Given the description of an element on the screen output the (x, y) to click on. 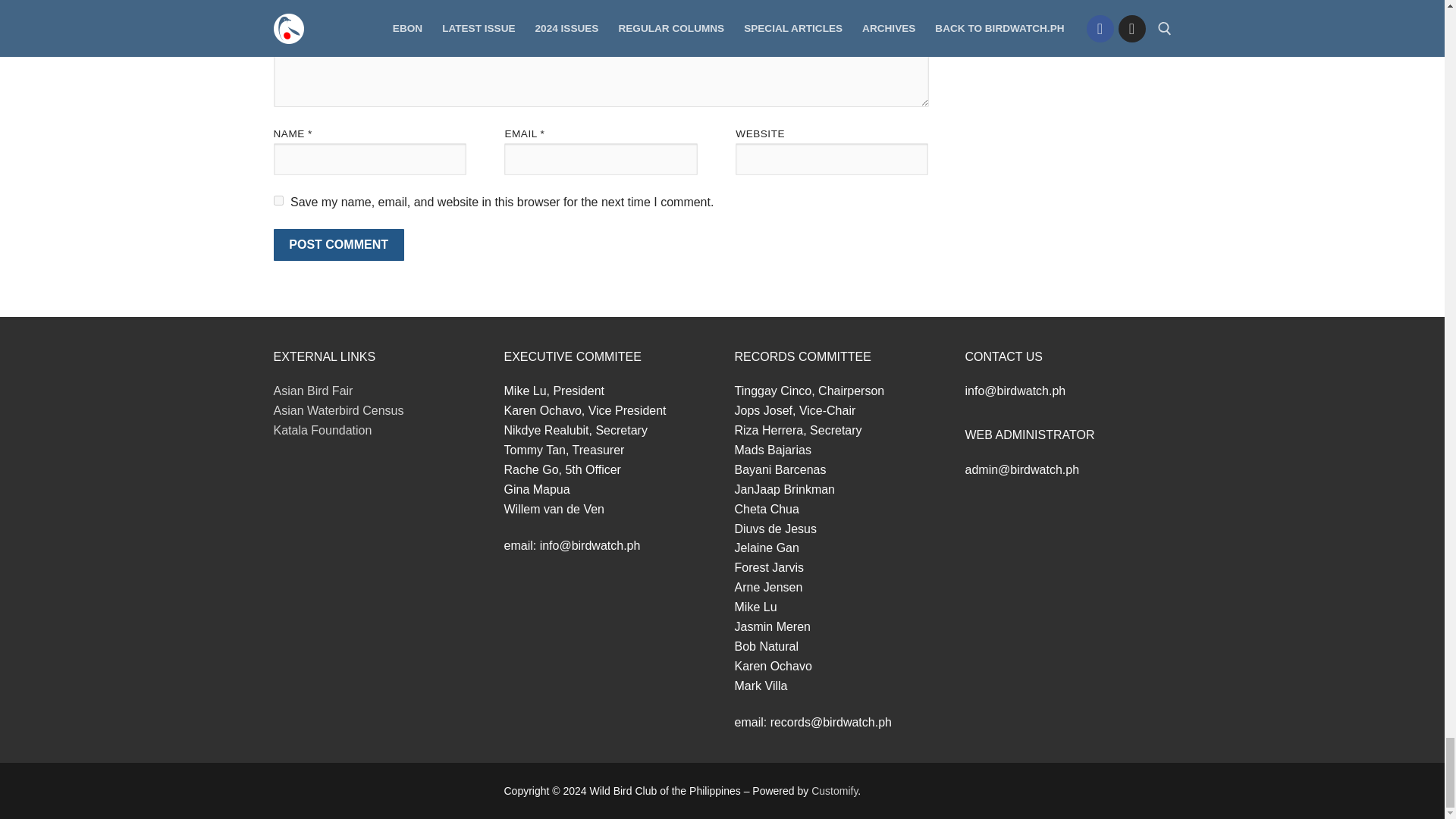
yes (277, 200)
Post Comment (338, 245)
